Given the description of an element on the screen output the (x, y) to click on. 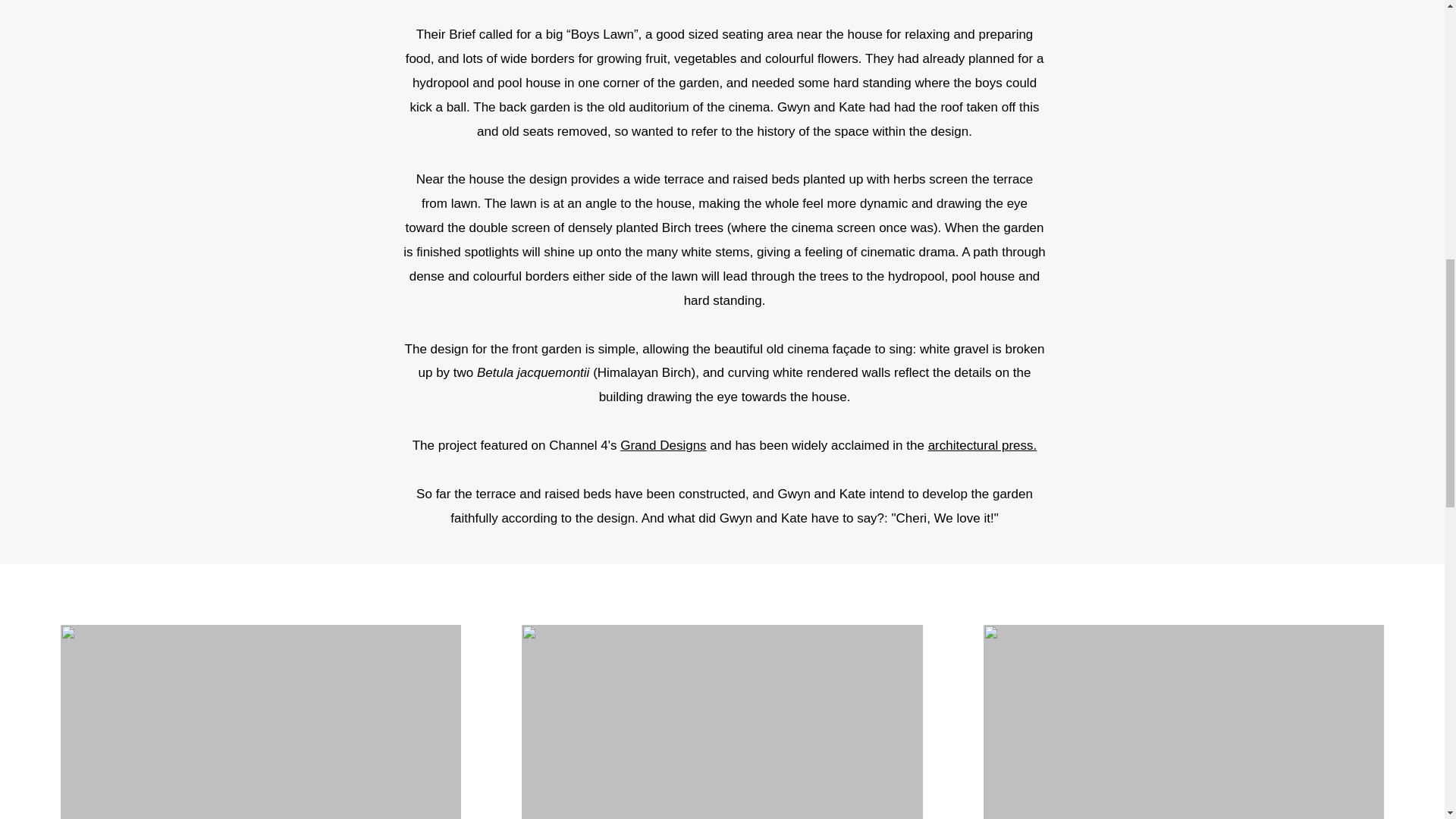
Grand Designs (663, 445)
architectural press. (982, 445)
